Given the description of an element on the screen output the (x, y) to click on. 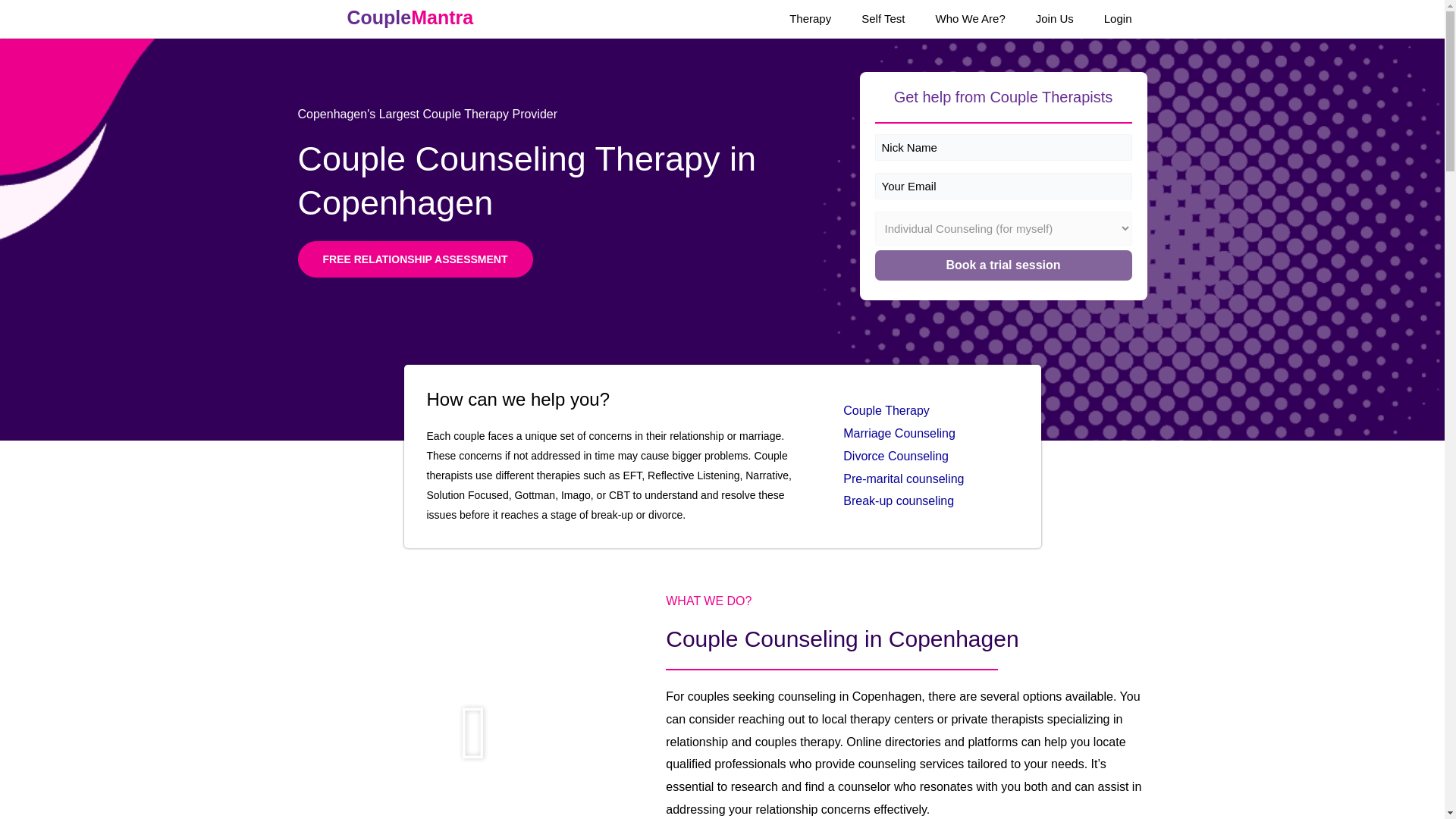
Who We Are? (970, 18)
CoupleMantra (385, 19)
Therapy (809, 18)
Join Us (1054, 18)
Book a trial session (1003, 265)
Self Test (882, 18)
Login (1118, 18)
